Given the description of an element on the screen output the (x, y) to click on. 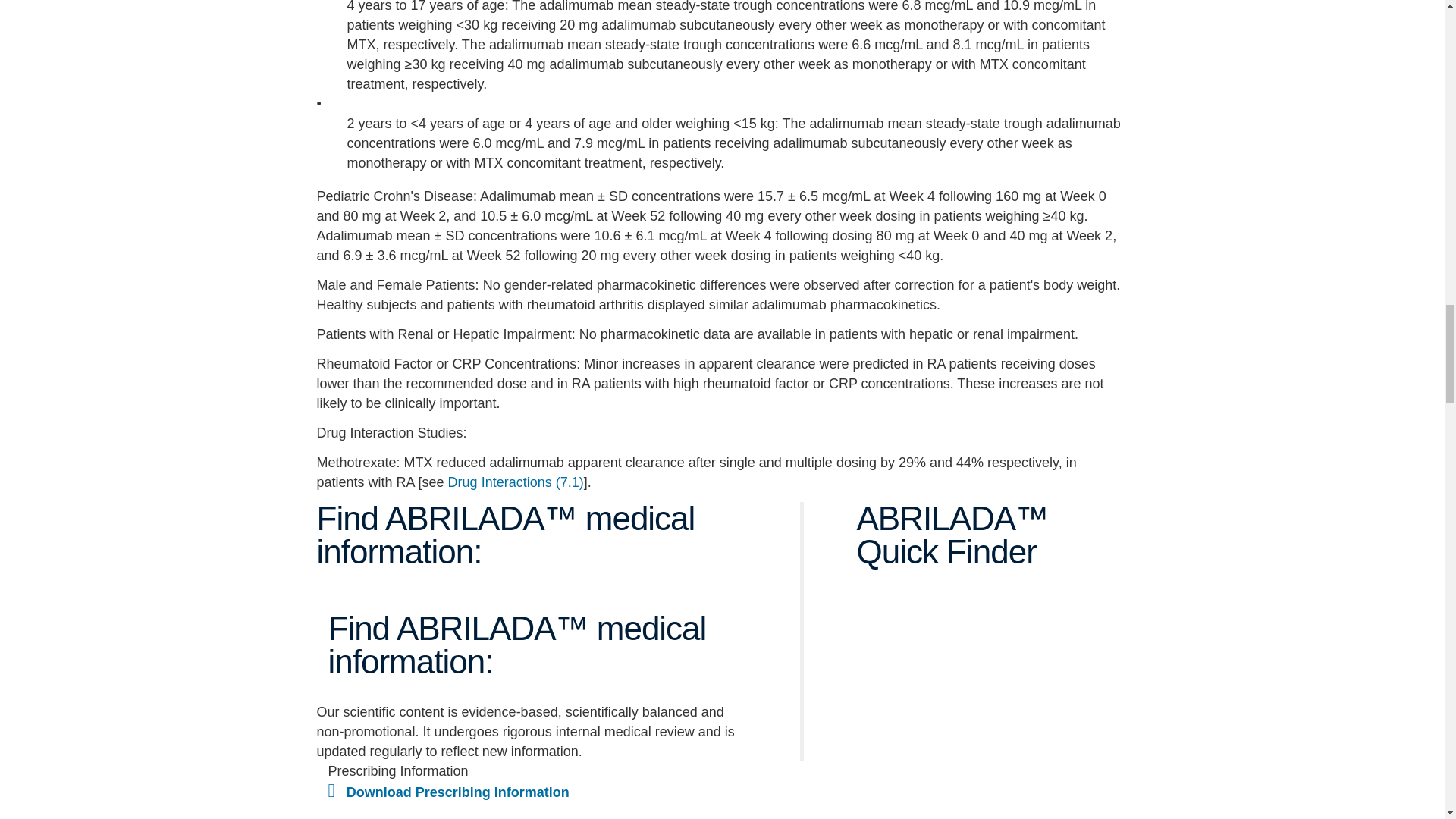
View full prescribing information (448, 791)
